Given the description of an element on the screen output the (x, y) to click on. 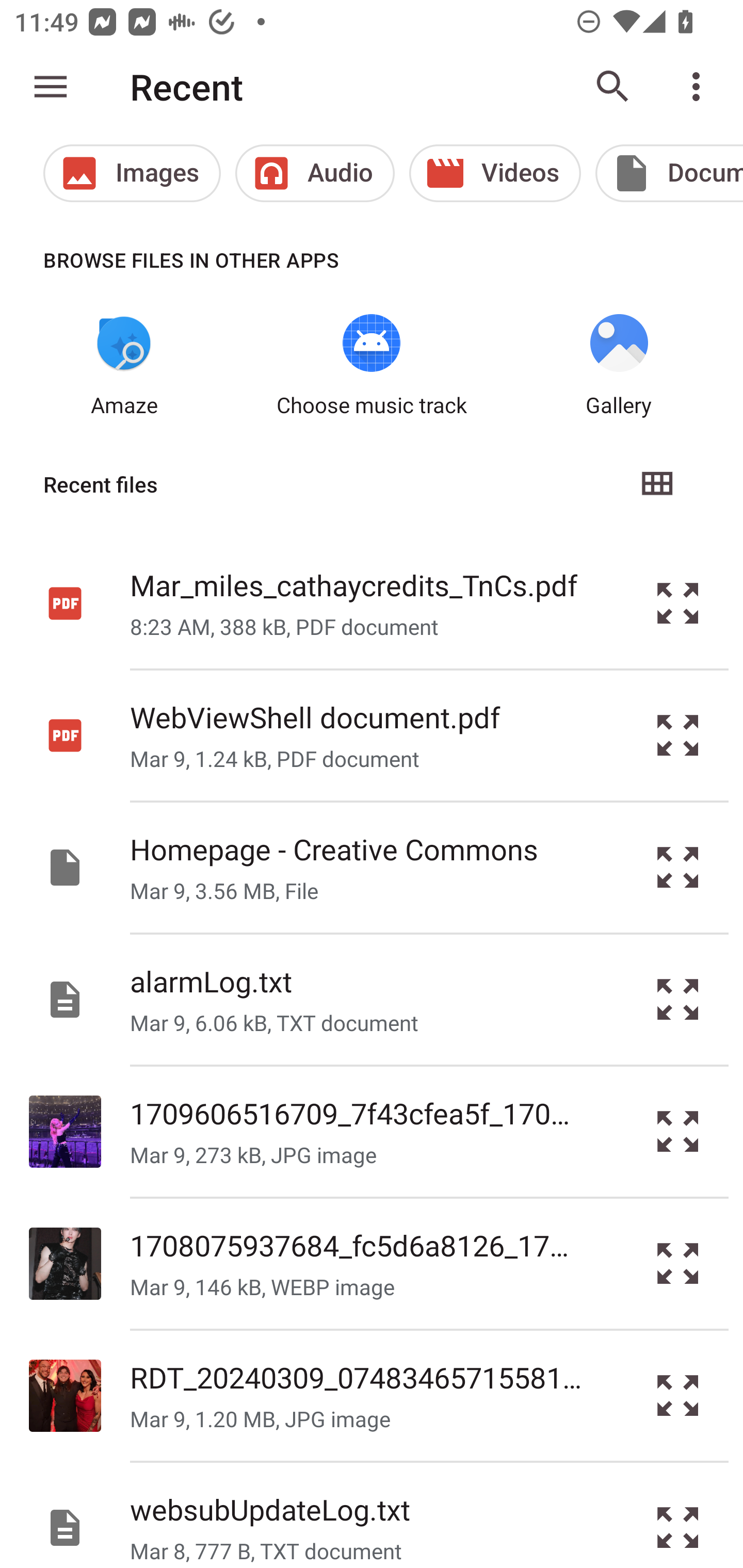
Show roots (50, 86)
Search (612, 86)
More options (699, 86)
Images (131, 173)
Audio (314, 173)
Videos (495, 173)
Documents (669, 173)
Amaze (123, 365)
Choose music track (371, 365)
Gallery (619, 365)
Grid view (655, 484)
Preview the file Mar_miles_cathaycredits_TnCs.pdf (677, 602)
Preview the file WebViewShell document.pdf (677, 736)
Preview the file Homepage - Creative Commons (677, 867)
Preview the file alarmLog.txt (677, 999)
Preview the file websubUpdateLog.txt (677, 1515)
